Given the description of an element on the screen output the (x, y) to click on. 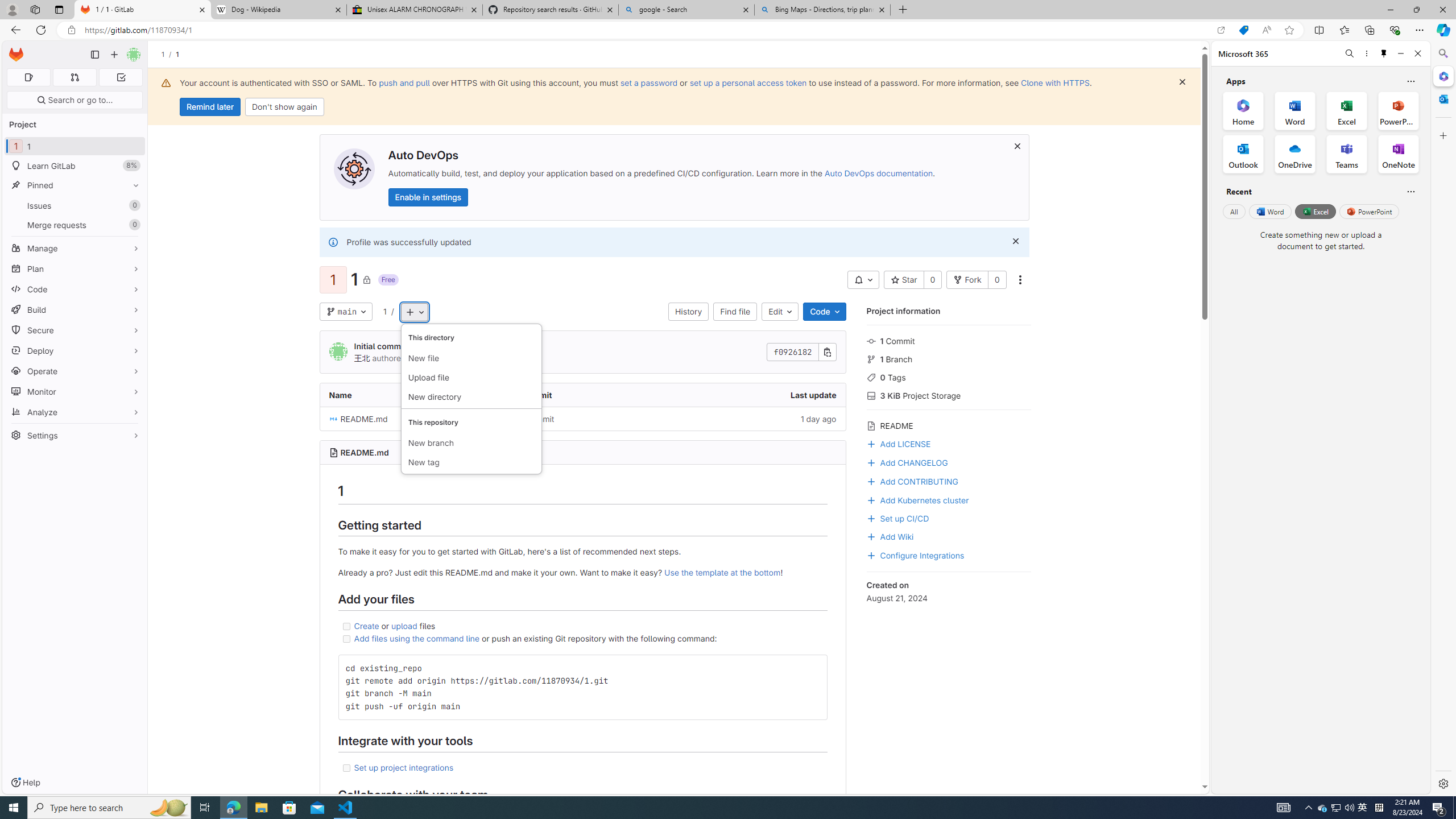
Unpin Merge requests (132, 224)
Set up project integrations (582, 767)
New file (470, 357)
Skip to main content (13, 49)
All (1233, 210)
New directory (470, 397)
Add CHANGELOG (906, 461)
New branchNew tag (470, 439)
Primary navigation sidebar (94, 54)
New branch (470, 443)
Outlook (1442, 98)
1 (384, 311)
